Given the description of an element on the screen output the (x, y) to click on. 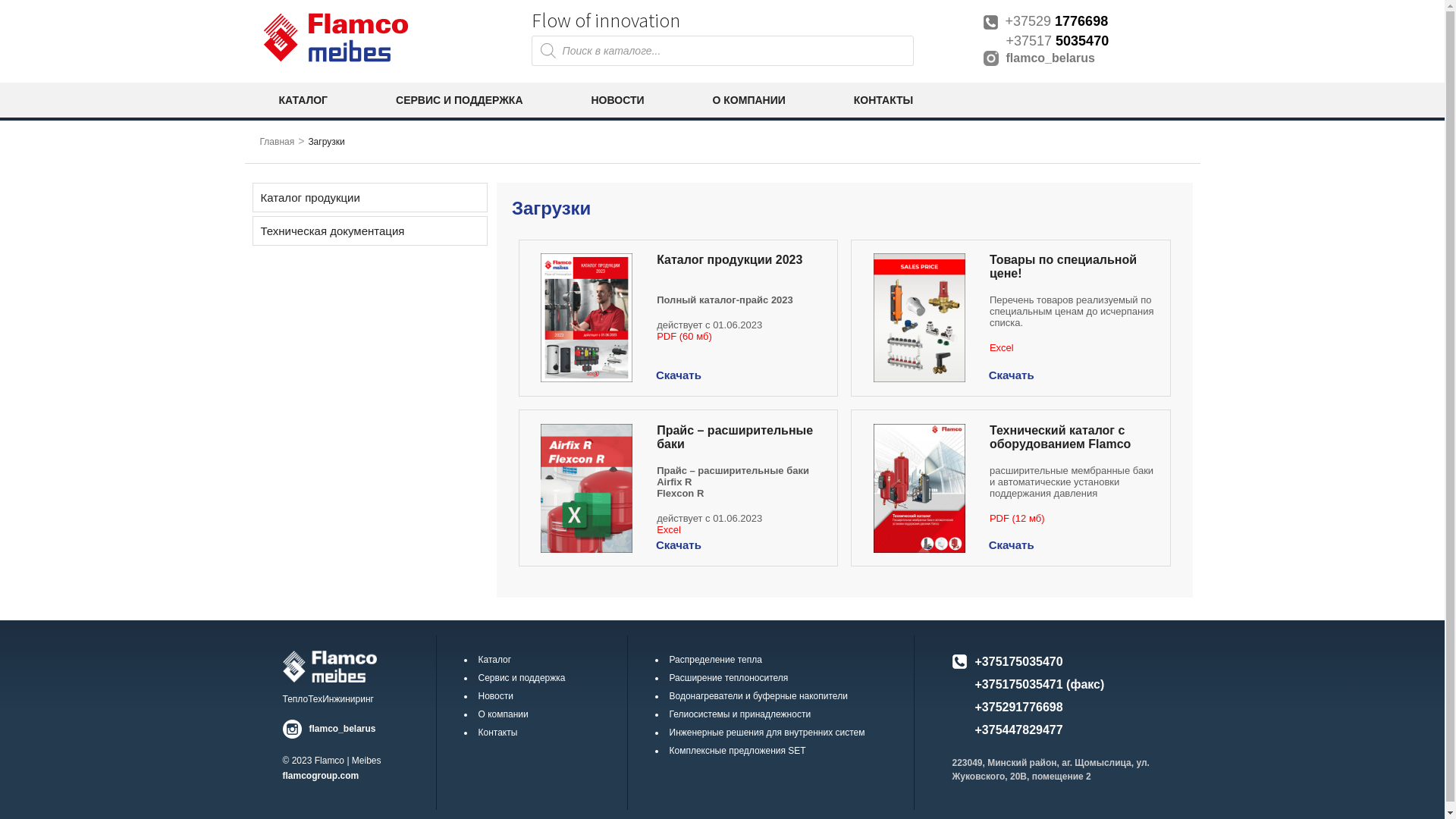
flamcogroup.com Element type: text (320, 775)
+375291776698 Element type: text (1019, 706)
+375447829477 Element type: text (1019, 729)
flamco_belarus Element type: text (332, 721)
flamco_belarus Element type: text (1087, 58)
+375175035470 Element type: text (1019, 661)
